Given the description of an element on the screen output the (x, y) to click on. 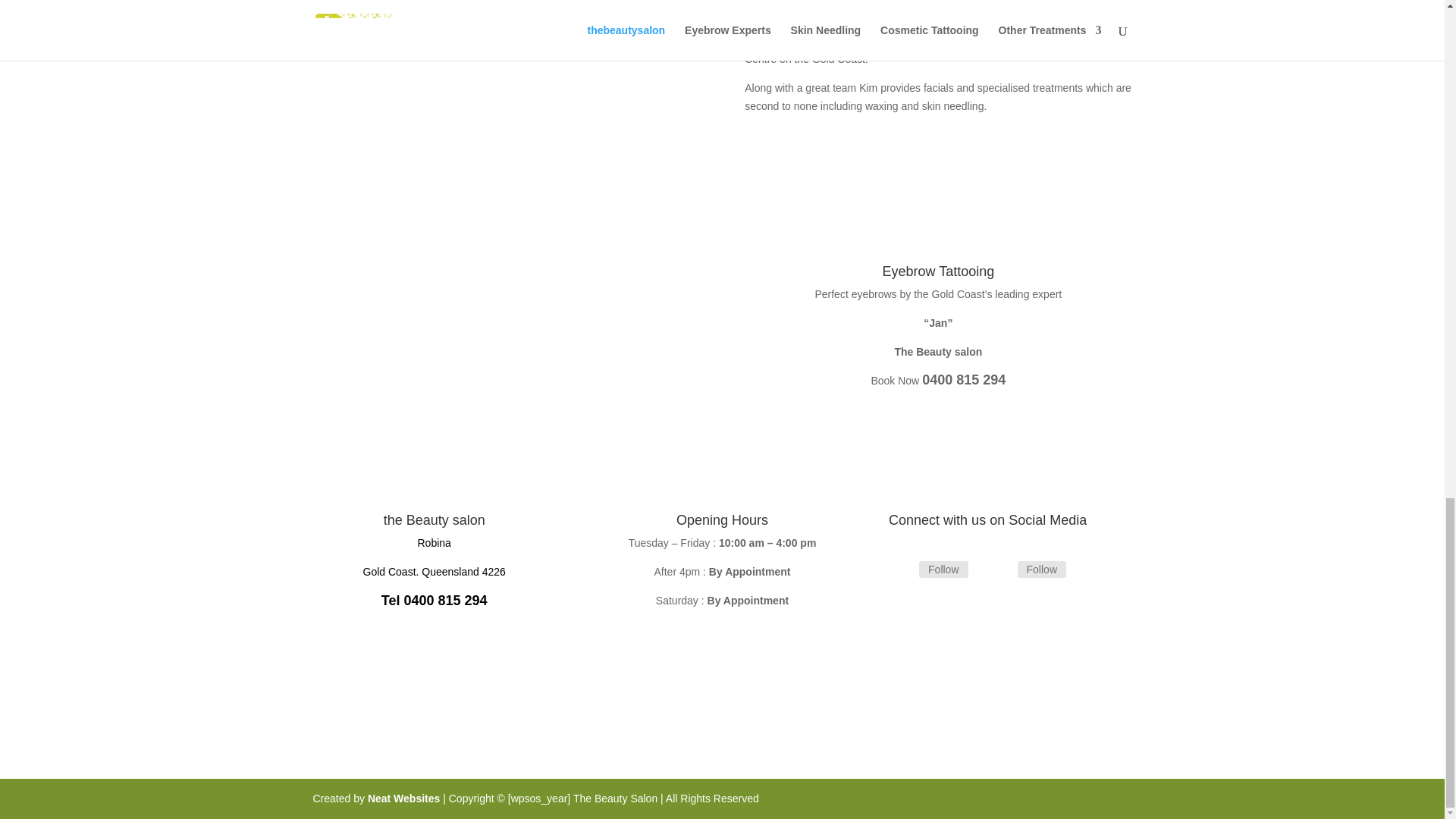
Facebook (943, 569)
Follow on Facebook (900, 569)
Instagram (1041, 569)
Follow on Instagram (999, 569)
Follow (1041, 569)
Follow (943, 569)
Neat Websites (405, 798)
